Given the description of an element on the screen output the (x, y) to click on. 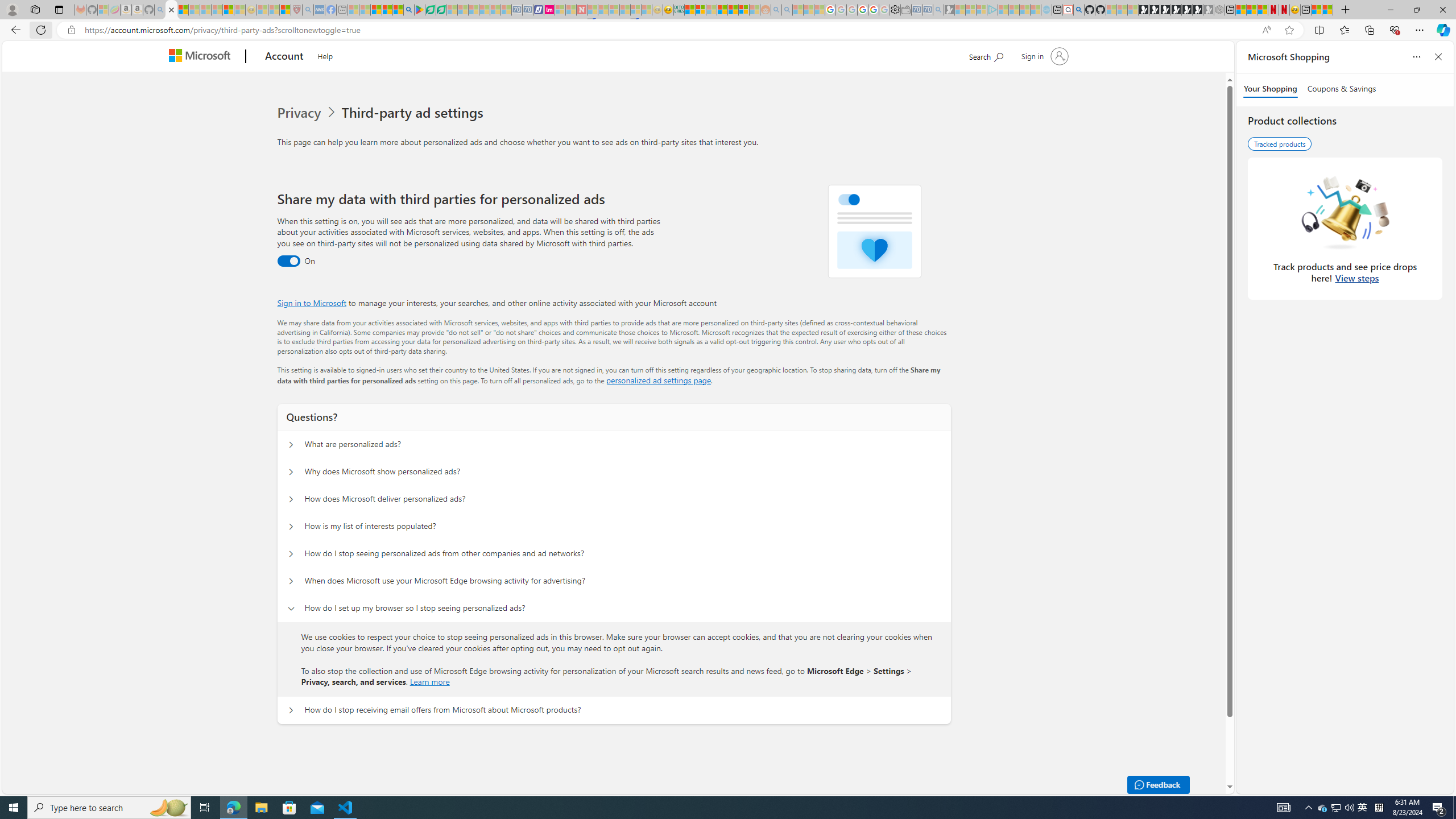
Jobs - lastminute.com Investor Portal (548, 9)
Pets - MSN (387, 9)
